Given the description of an element on the screen output the (x, y) to click on. 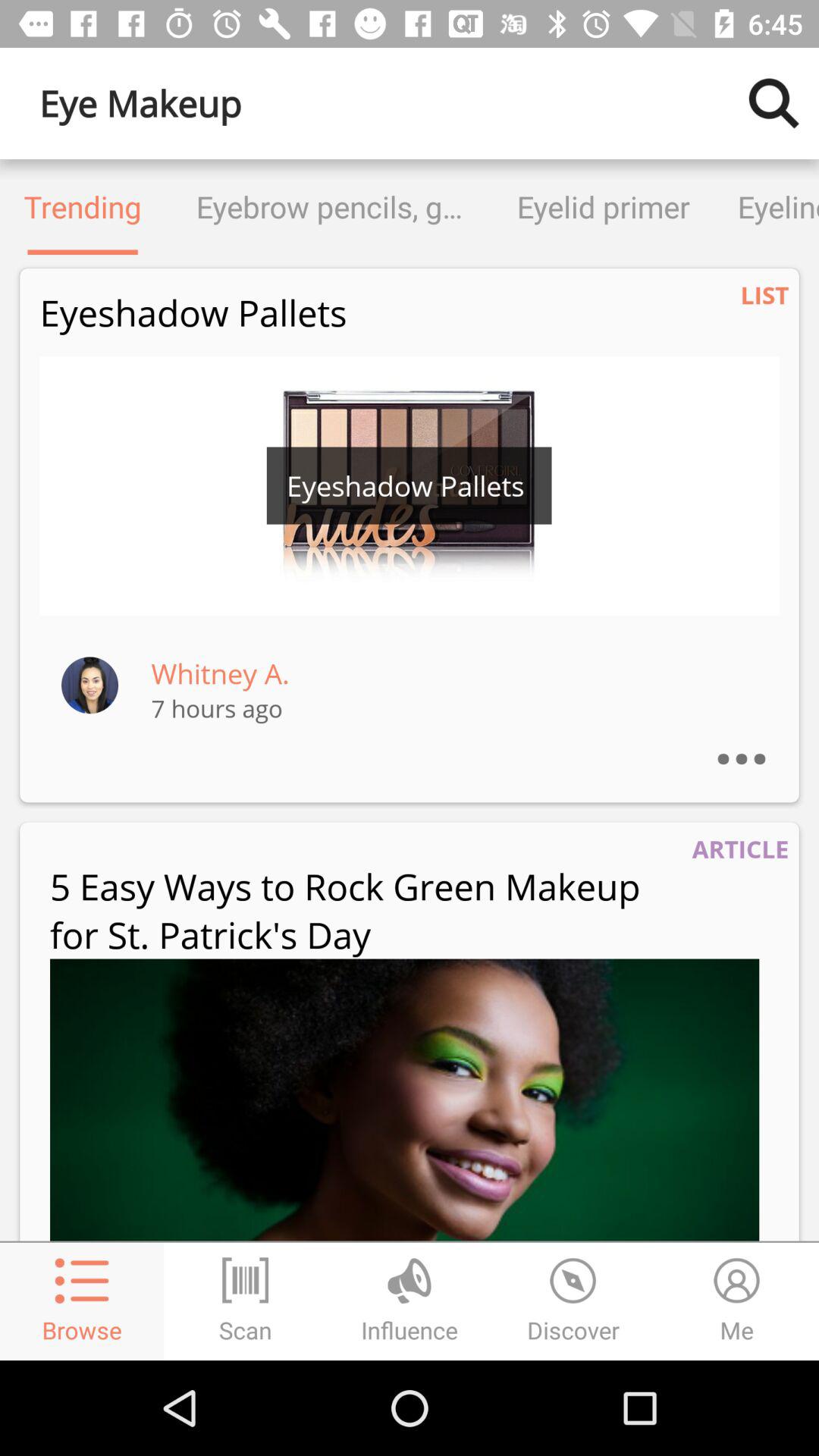
choose item next to eyeliner (603, 206)
